Given the description of an element on the screen output the (x, y) to click on. 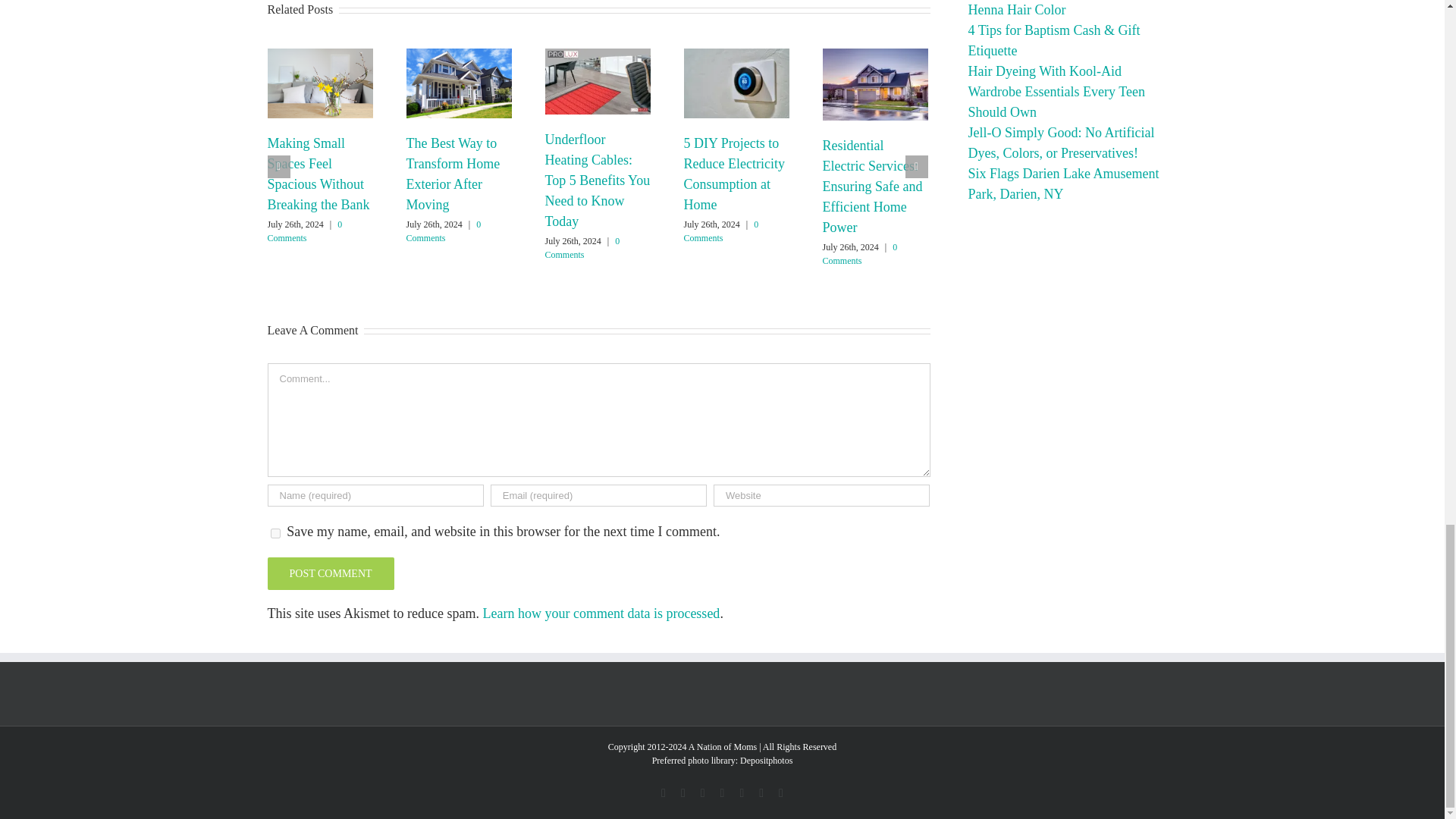
Post Comment (329, 573)
yes (274, 533)
